Given the description of an element on the screen output the (x, y) to click on. 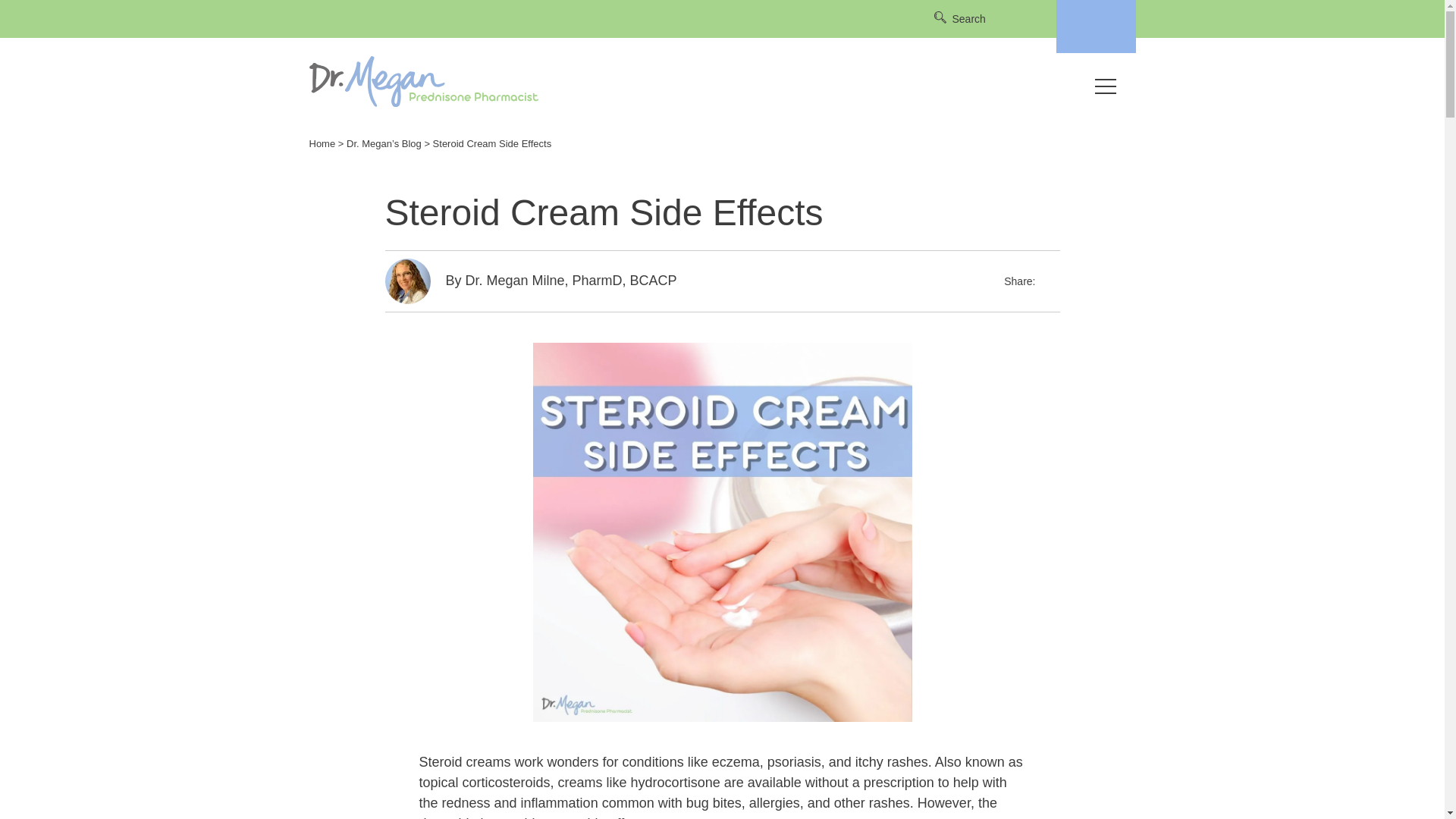
By Dr. Megan Milne, PharmD, BCACP (561, 281)
Home (322, 143)
Menu (1105, 81)
